Given the description of an element on the screen output the (x, y) to click on. 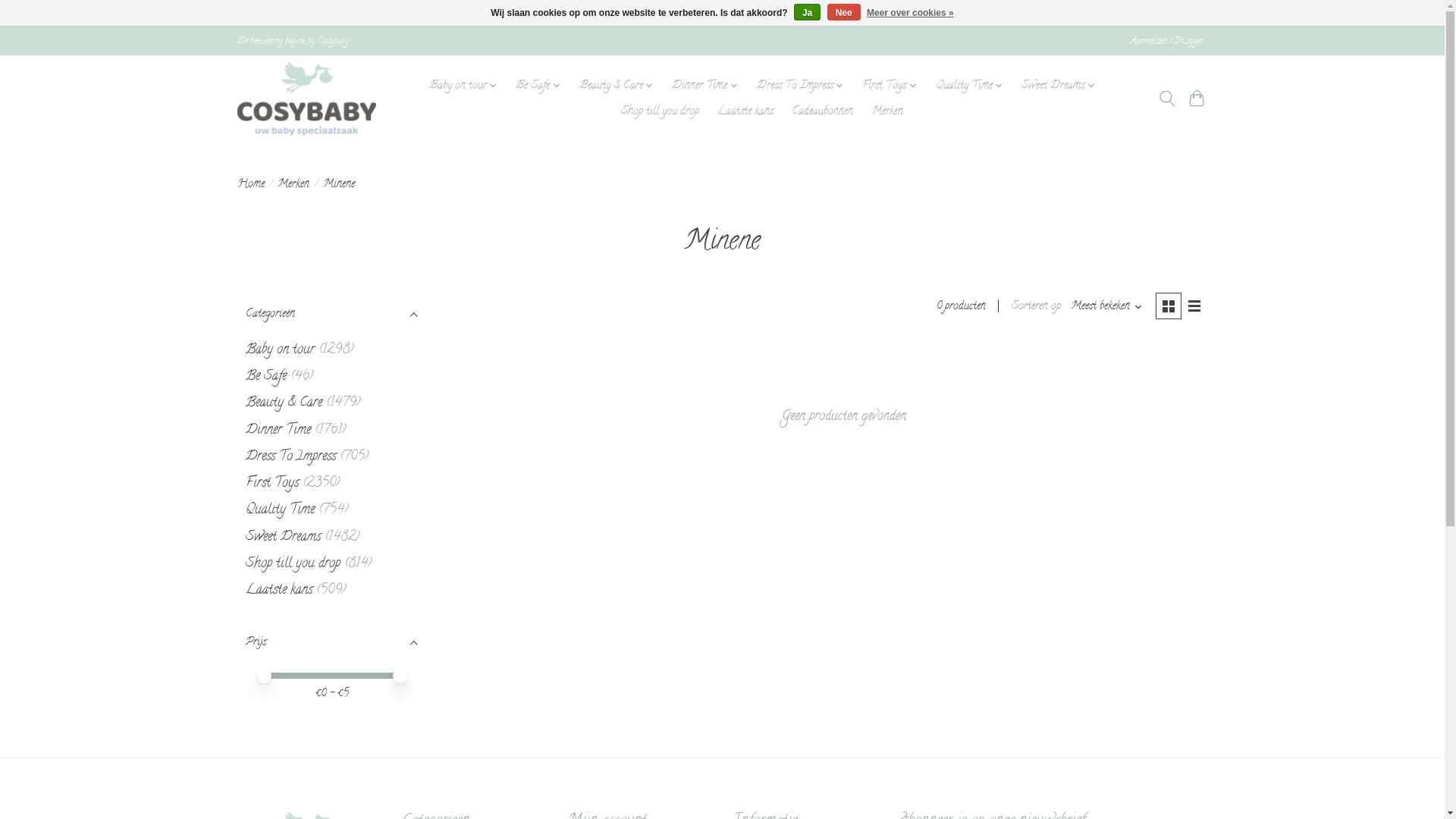
Aanmelden / Inloggen Element type: text (1166, 41)
Be Safe Element type: text (538, 86)
Quality Time Element type: text (279, 509)
Dinner Time Element type: text (277, 430)
Dress To Impress Element type: text (290, 456)
Cadeaubonnen Element type: text (822, 111)
Prijs Element type: text (331, 642)
Merken Element type: text (293, 184)
Shop till you drop Element type: text (659, 111)
First Toys Element type: text (889, 86)
First Toys Element type: text (271, 483)
Shop till you drop Element type: text (292, 563)
Merken Element type: text (887, 111)
Beauty & Care Element type: text (616, 86)
Sweet Dreams Element type: text (282, 537)
Cosybaby bvba Element type: hover (305, 98)
Home Element type: text (249, 184)
Baby on tour Element type: text (463, 86)
Ja Element type: text (806, 11)
Be Safe Element type: text (265, 376)
Laatste kans Element type: text (745, 111)
Dinner Time Element type: text (704, 86)
Sweet Dreams Element type: text (1058, 86)
Baby on tour Element type: text (279, 349)
Beauty & Care Element type: text (283, 402)
Dress To Impress Element type: text (800, 86)
Laatste kans Element type: text (278, 590)
Meest bekeken Element type: text (1106, 306)
Nee Element type: text (843, 11)
Quality Time Element type: text (969, 86)
